Given the description of an element on the screen output the (x, y) to click on. 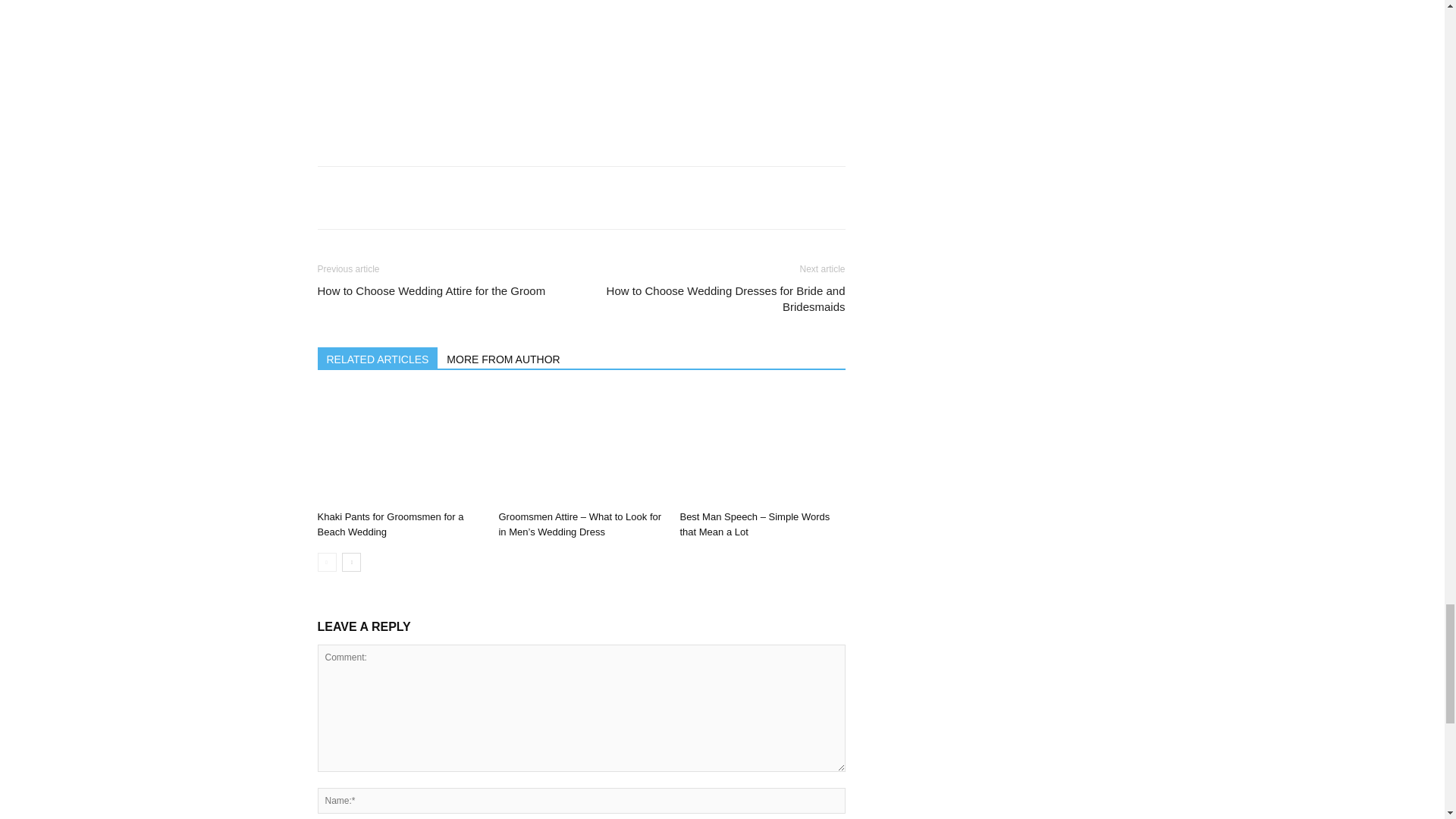
Khaki Pants for Groomsmen for a Beach Wedding (390, 524)
Khaki Pants for Groomsmen for a Beach Wedding (399, 447)
